Given the description of an element on the screen output the (x, y) to click on. 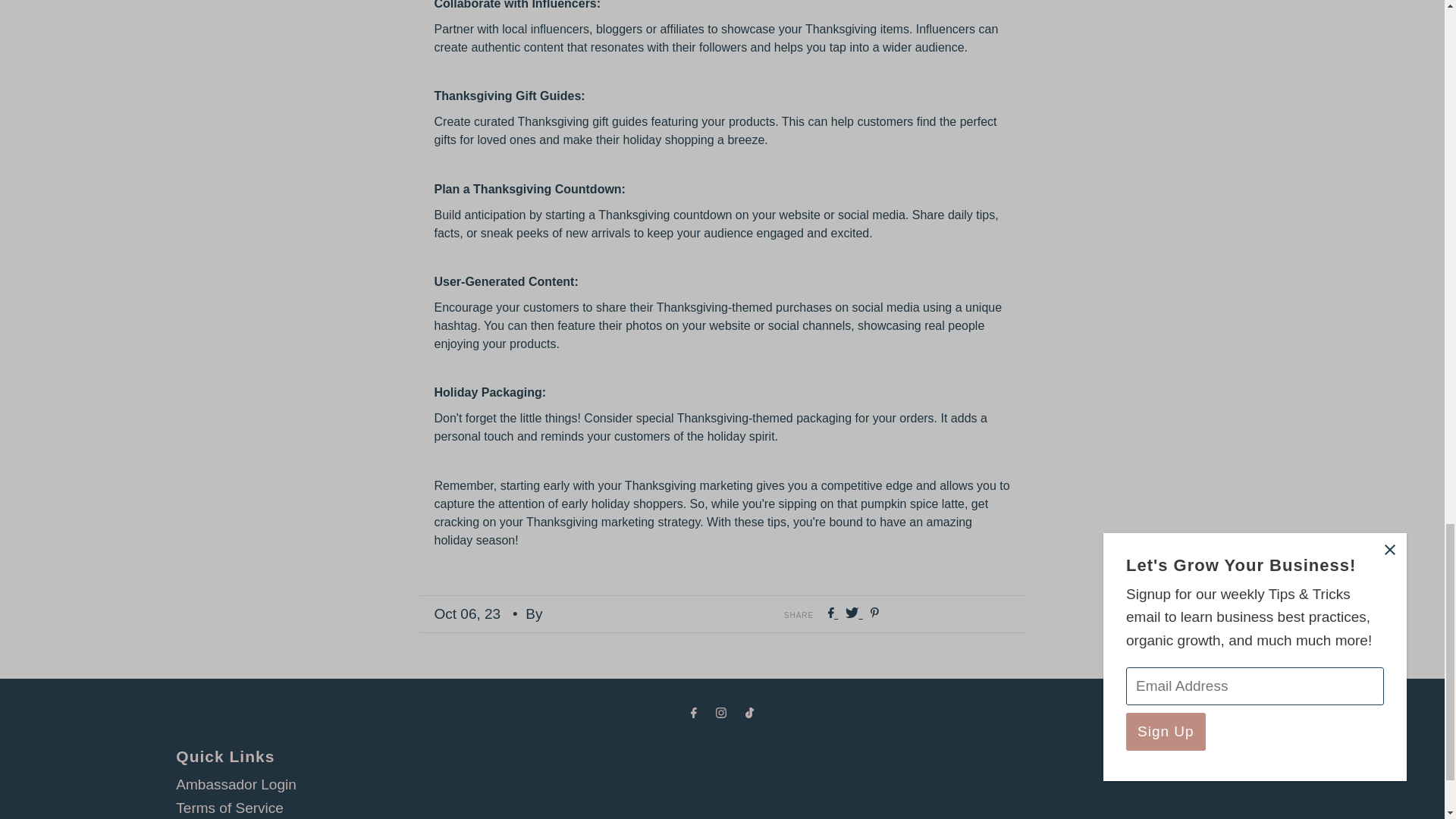
Share on Twitter (854, 613)
